Given the description of an element on the screen output the (x, y) to click on. 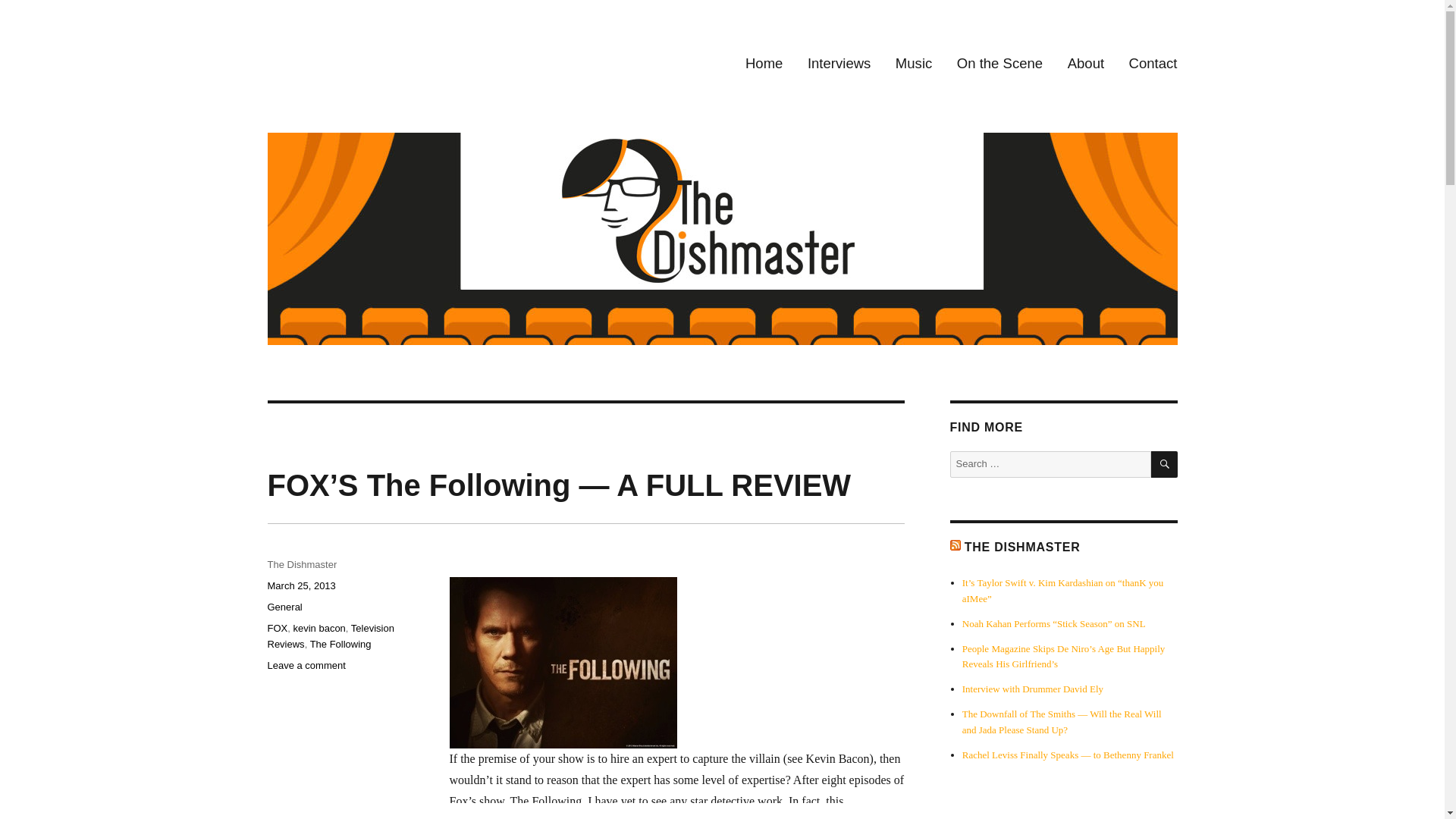
The Following (340, 644)
Music (913, 63)
General (283, 606)
The Dishmaster (346, 50)
March 25, 2013 (300, 585)
Interviews (838, 63)
About (1085, 63)
The Dishmaster (301, 564)
kevin bacon (318, 627)
Home (763, 63)
